Given the description of an element on the screen output the (x, y) to click on. 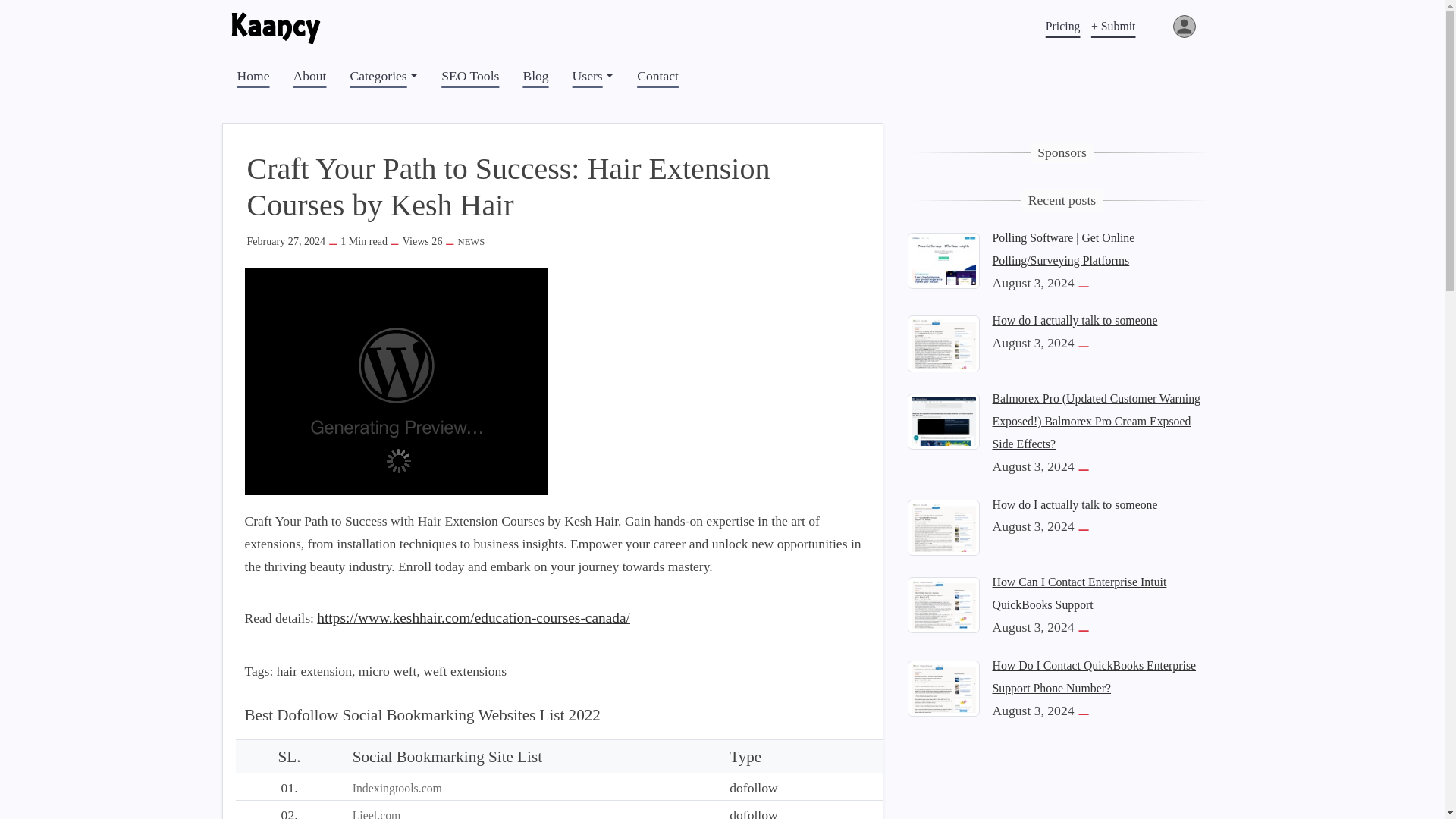
About (308, 76)
Lieel.com (376, 814)
How Can I Contact Enterprise Intuit QuickBooks Support (1078, 592)
Home (252, 76)
Categories (383, 76)
How do I actually talk to someone (943, 525)
How Can I Contact Enterprise Intuit QuickBooks Support (943, 603)
Users (593, 76)
How do I actually talk to someone (1074, 319)
How do I actually talk to someone (1074, 504)
